Given the description of an element on the screen output the (x, y) to click on. 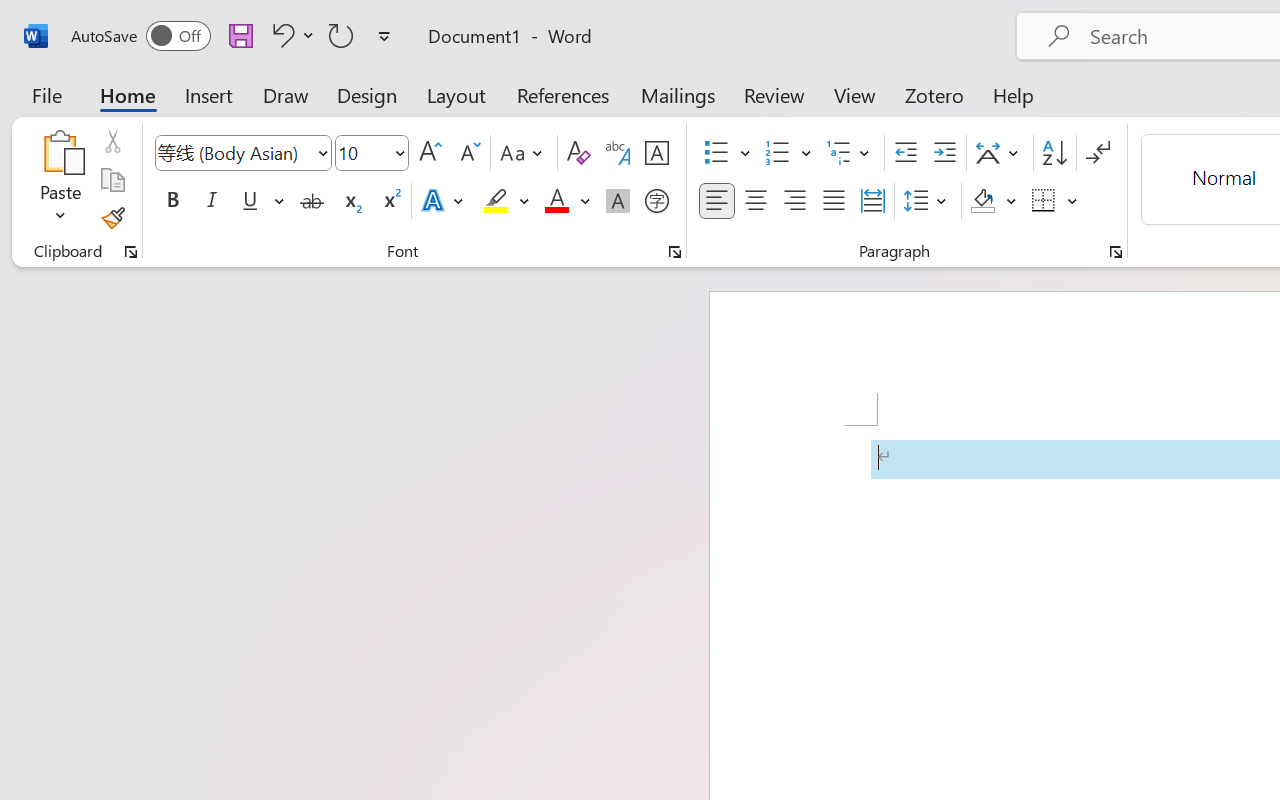
Shading No Color (982, 201)
